Given the description of an element on the screen output the (x, y) to click on. 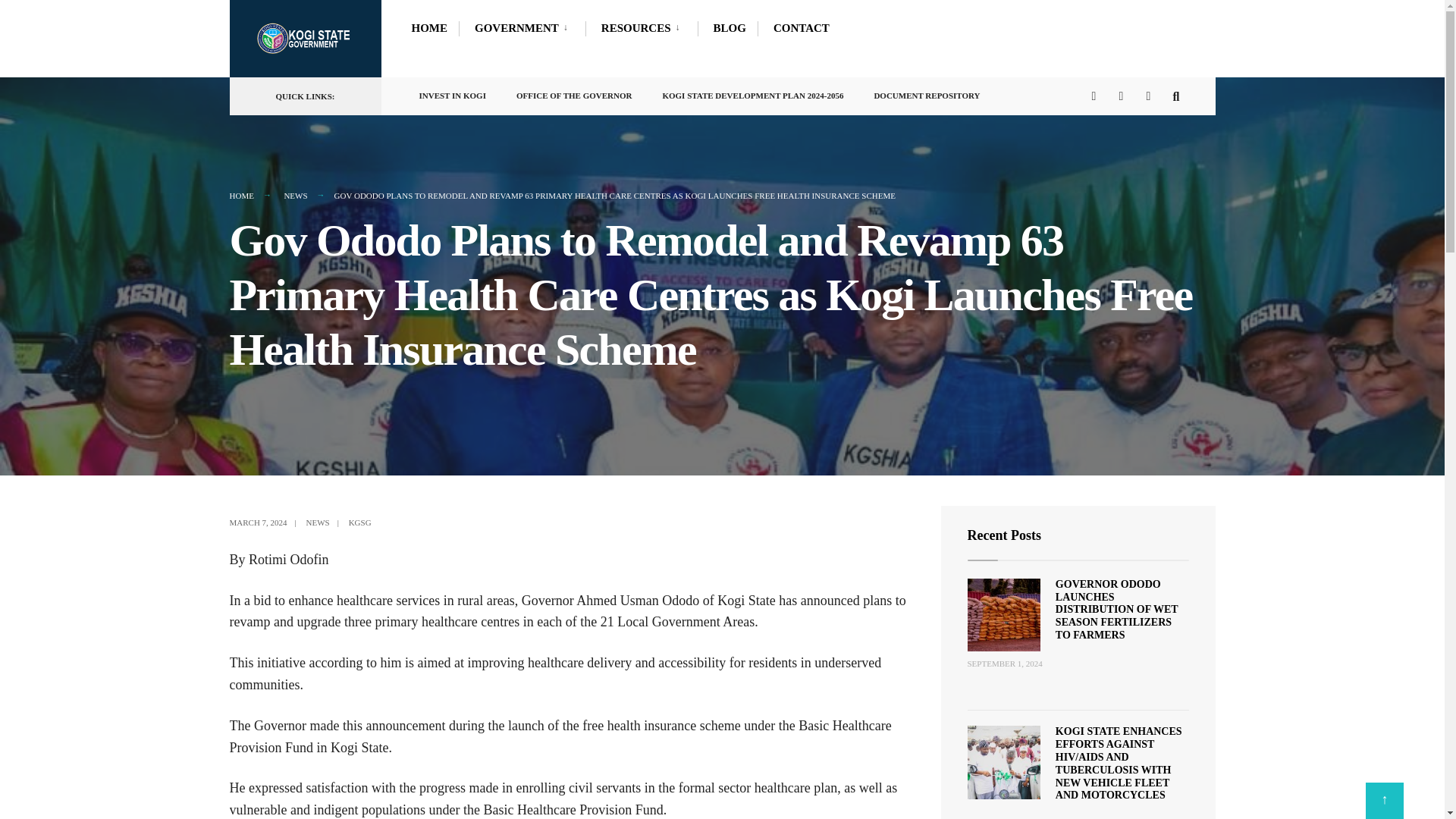
RESOURCES (643, 27)
HOME (428, 27)
GOVERNMENT (523, 27)
YouTube (1150, 94)
Skip to content (236, 3)
Twitter (1123, 94)
Scroll to top (1384, 800)
Posts by KGSG (360, 522)
Facebook (1096, 94)
